Given the description of an element on the screen output the (x, y) to click on. 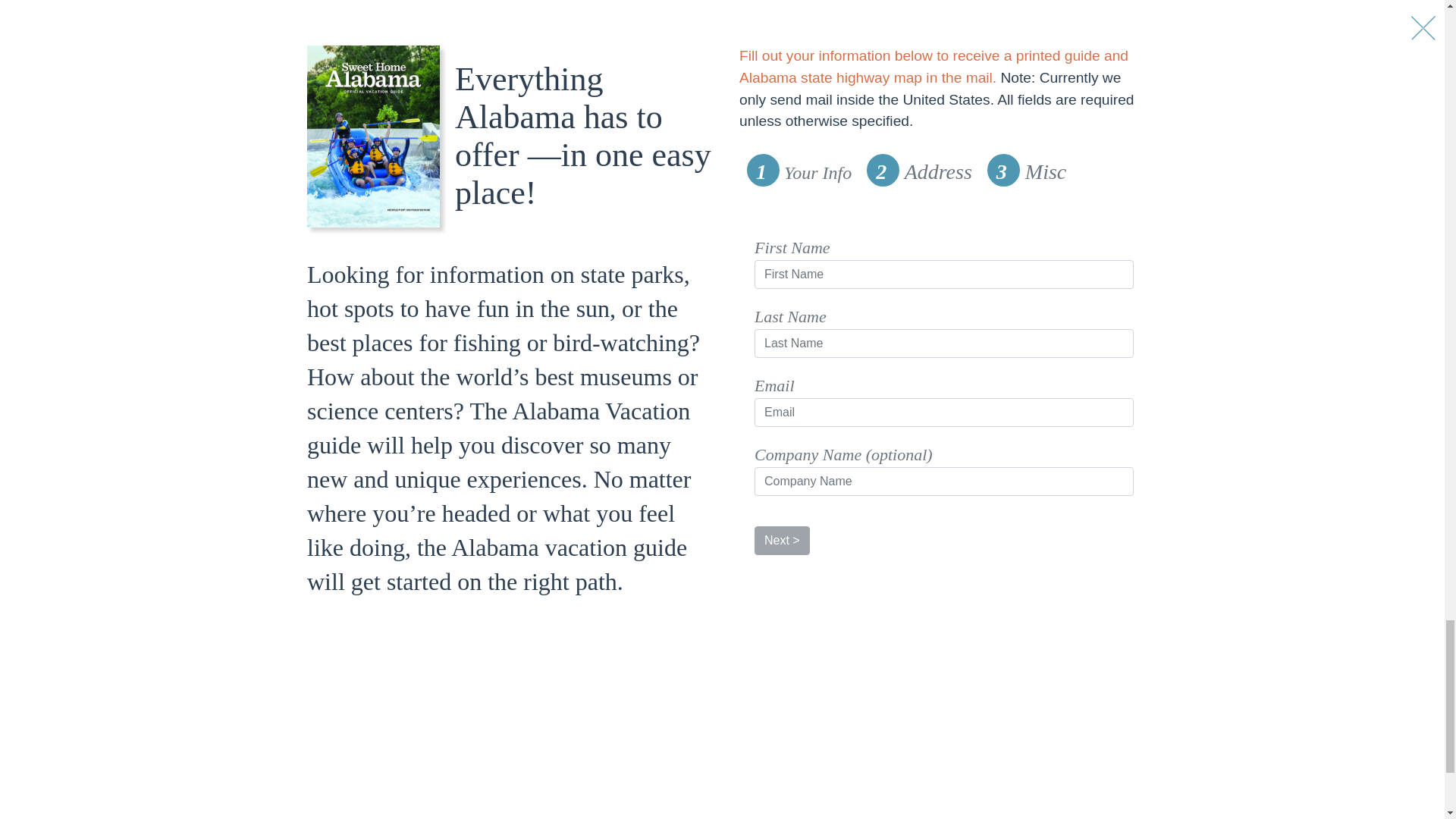
Economic Impact Reports, Industry News and Resources (628, 814)
